Given the description of an element on the screen output the (x, y) to click on. 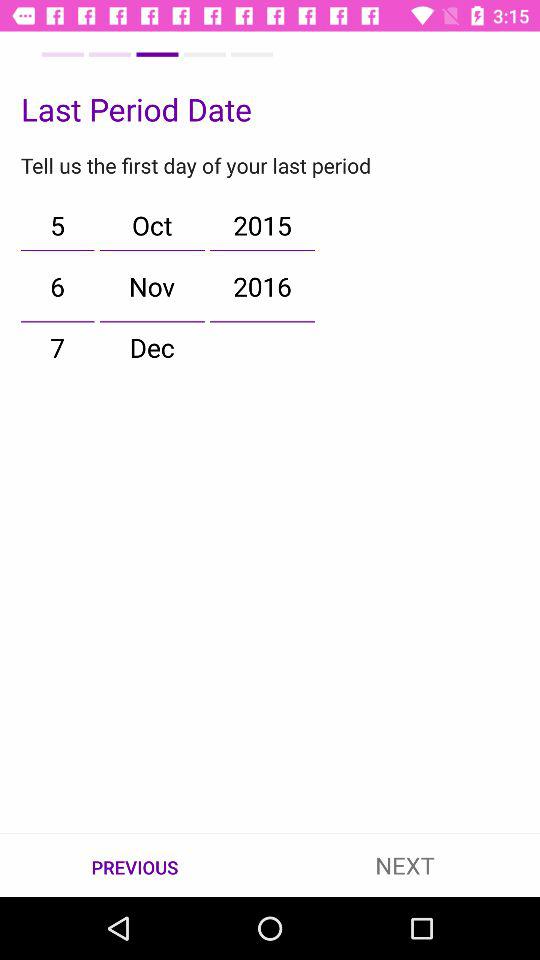
tap next at the bottom right corner (405, 864)
